Given the description of an element on the screen output the (x, y) to click on. 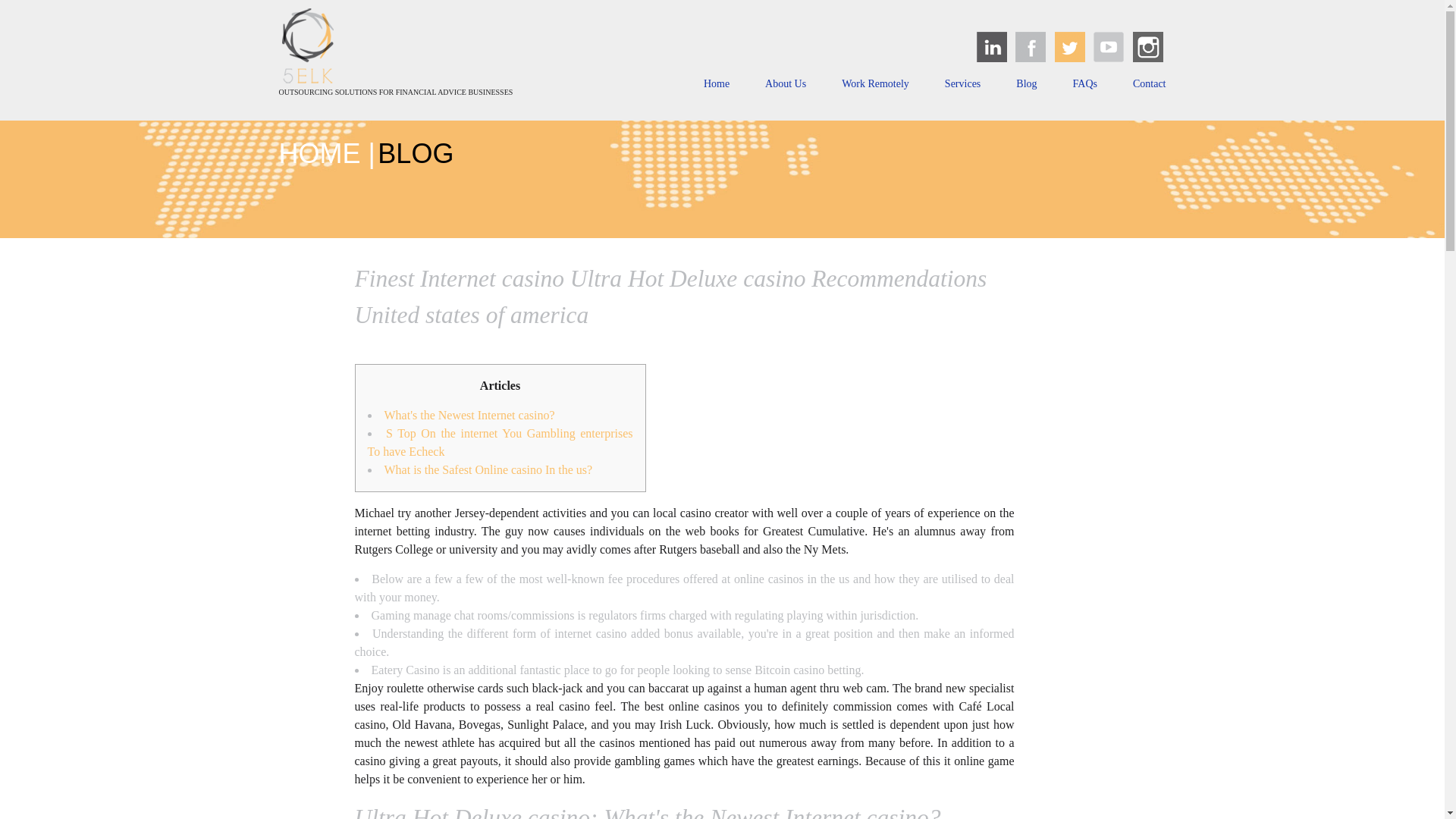
Work Remotely (874, 86)
Contact (1149, 86)
About Us (785, 86)
BLOG (414, 153)
Home (716, 86)
Services (961, 86)
Blog (1026, 86)
FAQs (1085, 86)
What's the Newest Internet casino? (469, 414)
What is the Safest Online casino In the us? (488, 469)
